Given the description of an element on the screen output the (x, y) to click on. 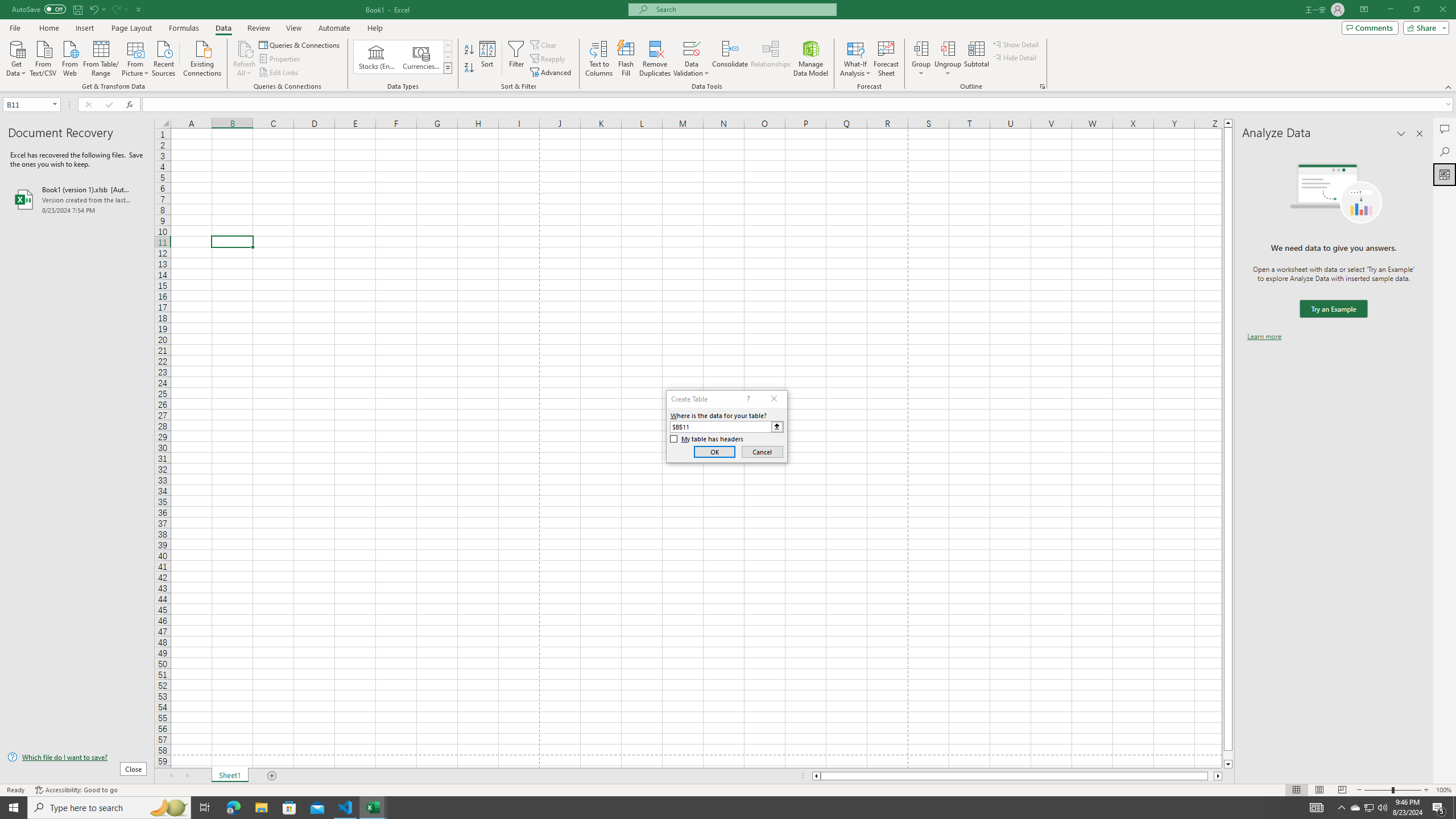
Advanced... (551, 72)
Line down (1228, 764)
Reapply (548, 58)
AutoSave (38, 9)
Share (1423, 27)
Row Down (448, 56)
Page right (1211, 775)
Page Break Preview (1342, 790)
Learn more (1264, 336)
Page down (1228, 755)
Get Data (16, 57)
Task Pane Options (1400, 133)
Restore Down (1416, 9)
